Given the description of an element on the screen output the (x, y) to click on. 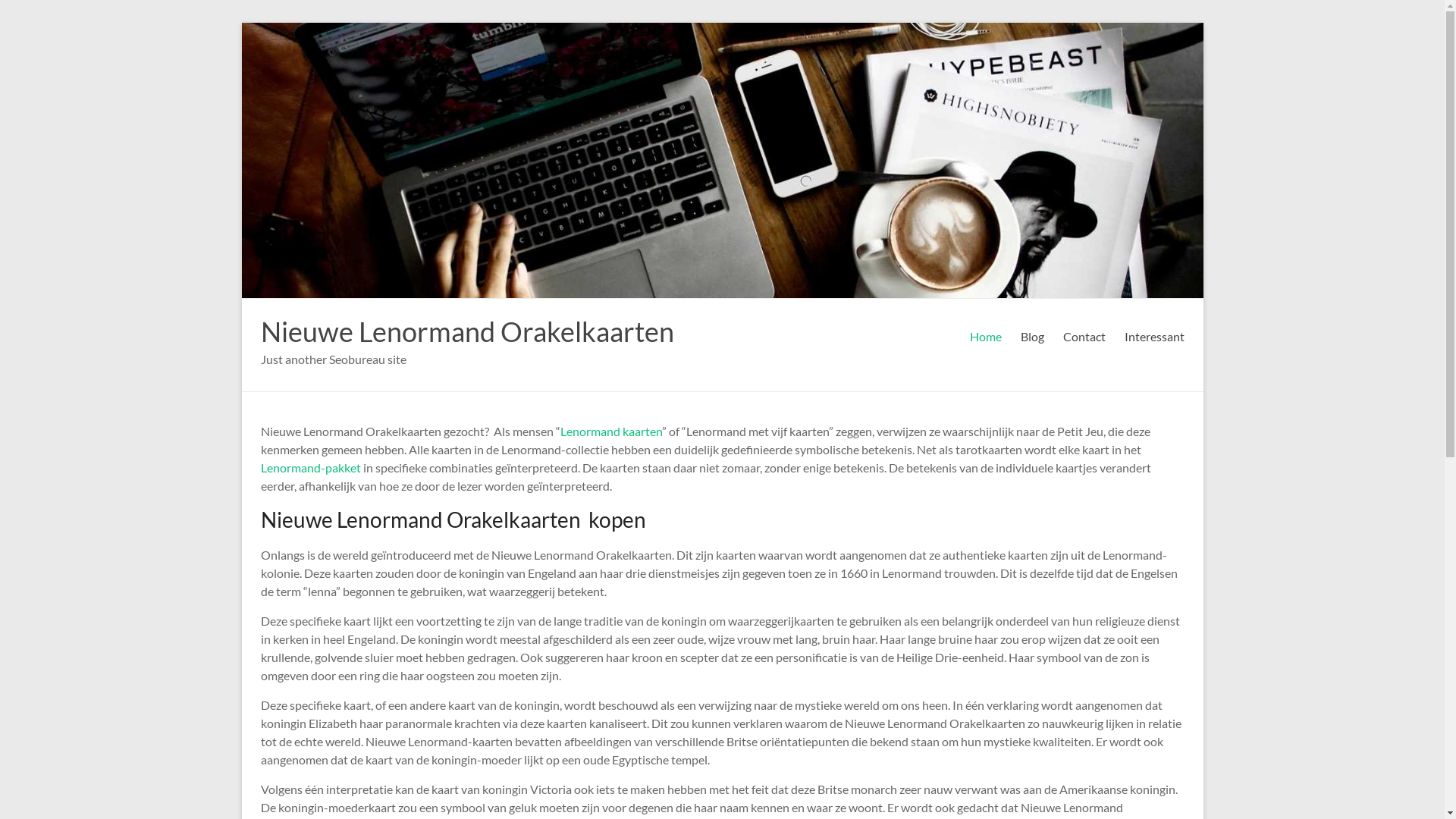
Nieuwe Lenormand Orakelkaarten Element type: text (467, 331)
Ga naar inhoud Element type: text (241, 21)
Lenormand-pakket Element type: text (310, 467)
Home Element type: text (985, 336)
Blog Element type: text (1032, 336)
Lenormand kaarten Element type: text (610, 430)
Contact Element type: text (1084, 336)
Interessant Element type: text (1153, 336)
